Given the description of an element on the screen output the (x, y) to click on. 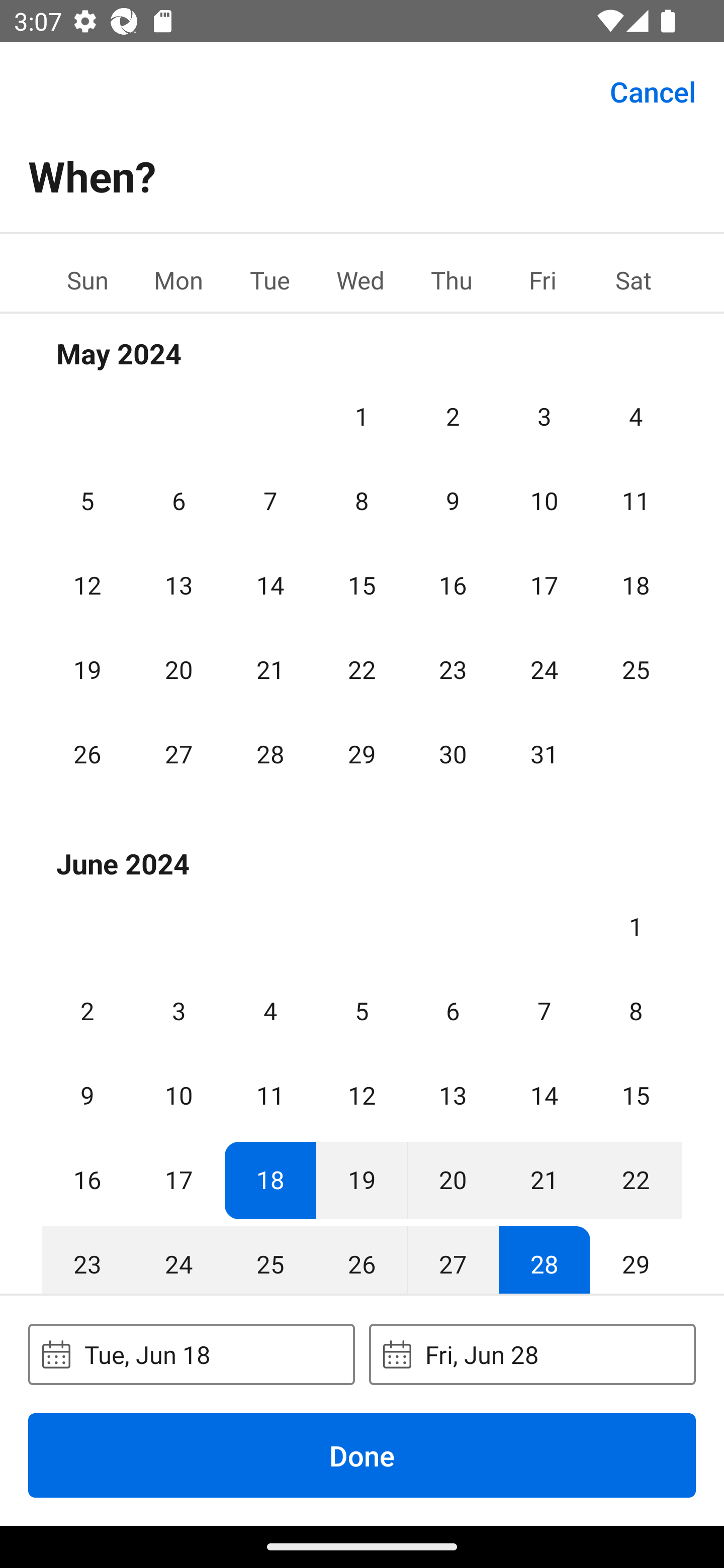
Cancel (652, 90)
Tue, Jun 18 (191, 1353)
Fri, Jun 28 (532, 1353)
Done (361, 1454)
